Given the description of an element on the screen output the (x, y) to click on. 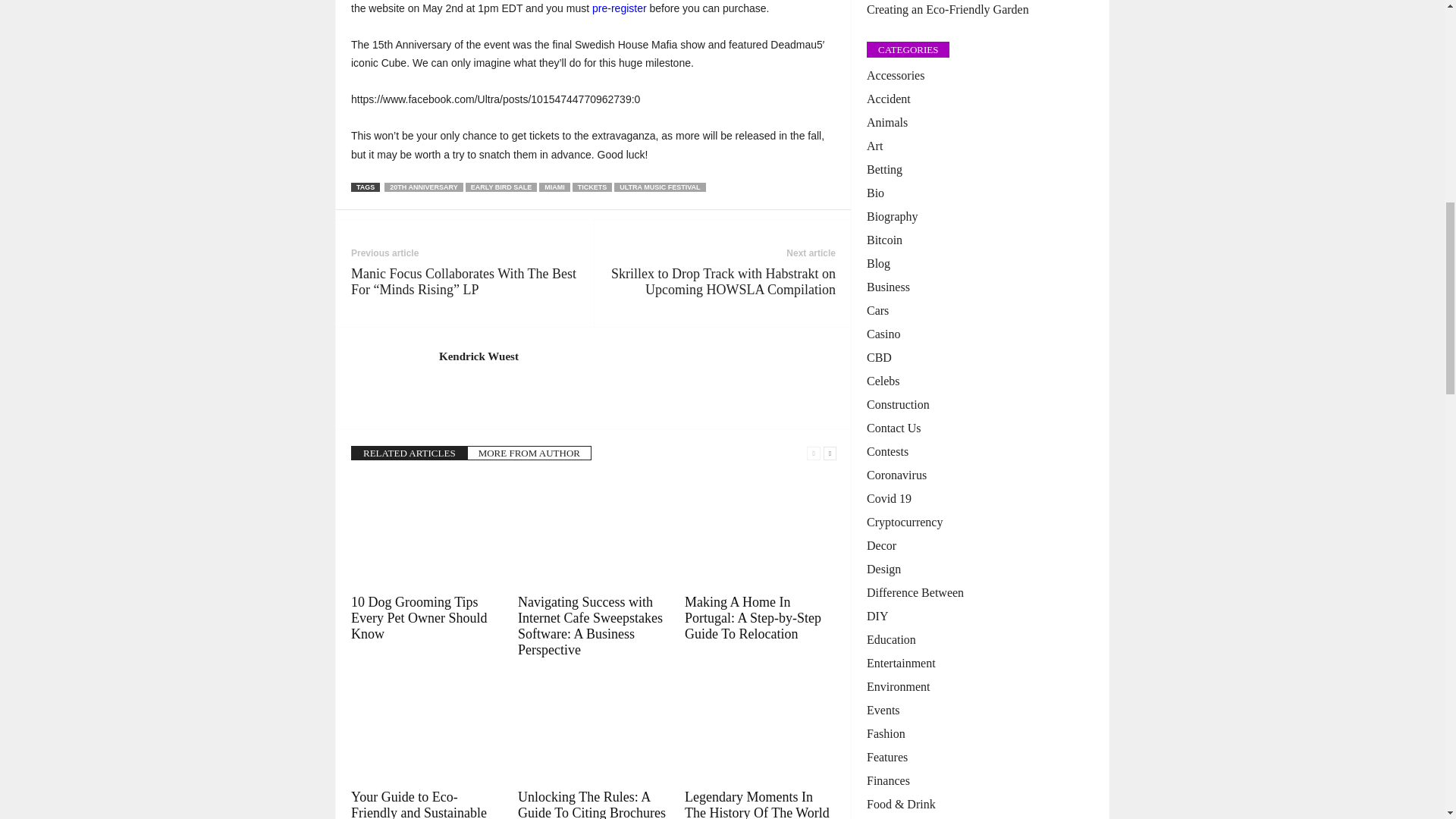
20TH ANNIVERSARY (423, 186)
10 Dog Grooming Tips Every Pet Owner Should Know (418, 617)
TICKETS (592, 186)
MIAMI (554, 186)
ULTRA MUSIC FESTIVAL (659, 186)
EARLY BIRD SALE (501, 186)
10 Dog Grooming Tips Every Pet Owner Should Know (426, 532)
